Given the description of an element on the screen output the (x, y) to click on. 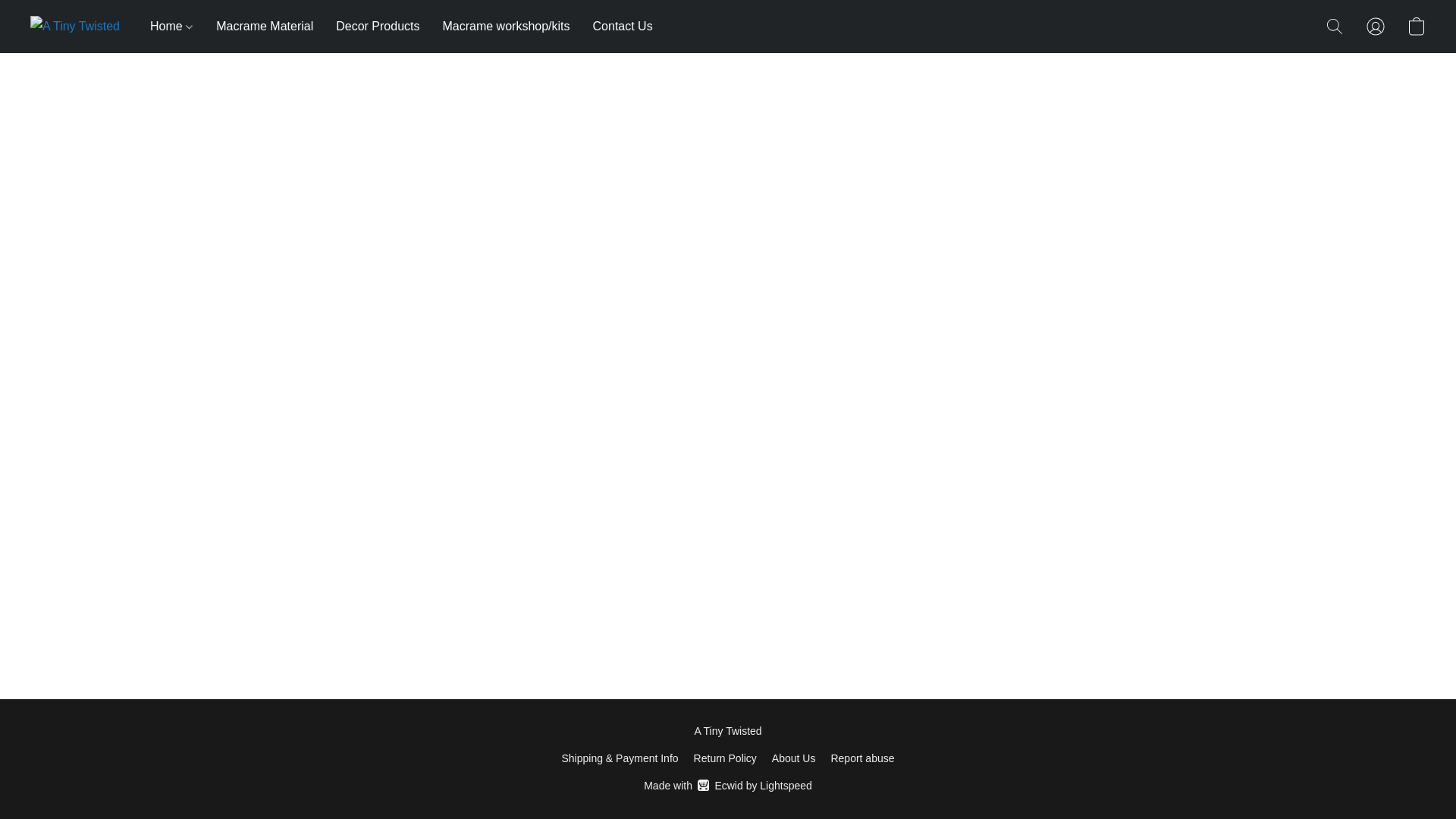
Macrame Material (264, 26)
Go to your shopping cart (1416, 26)
Search the website (1334, 26)
Return Policy (725, 758)
Decor Products (377, 26)
About Us (793, 758)
Report abuse (861, 758)
Home (177, 26)
Contact Us (727, 785)
